Given the description of an element on the screen output the (x, y) to click on. 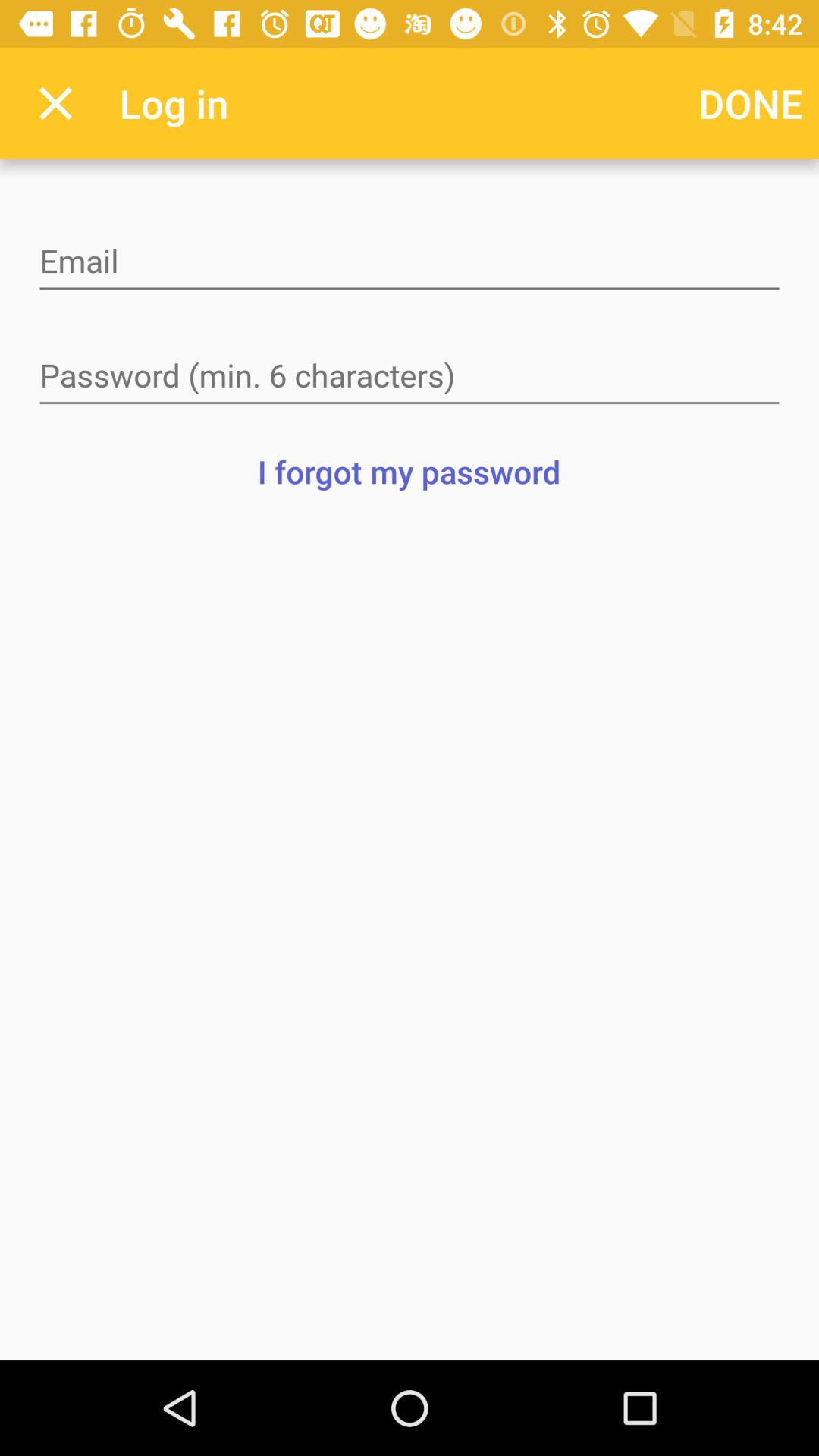
turn off the item to the right of log in app (750, 103)
